Given the description of an element on the screen output the (x, y) to click on. 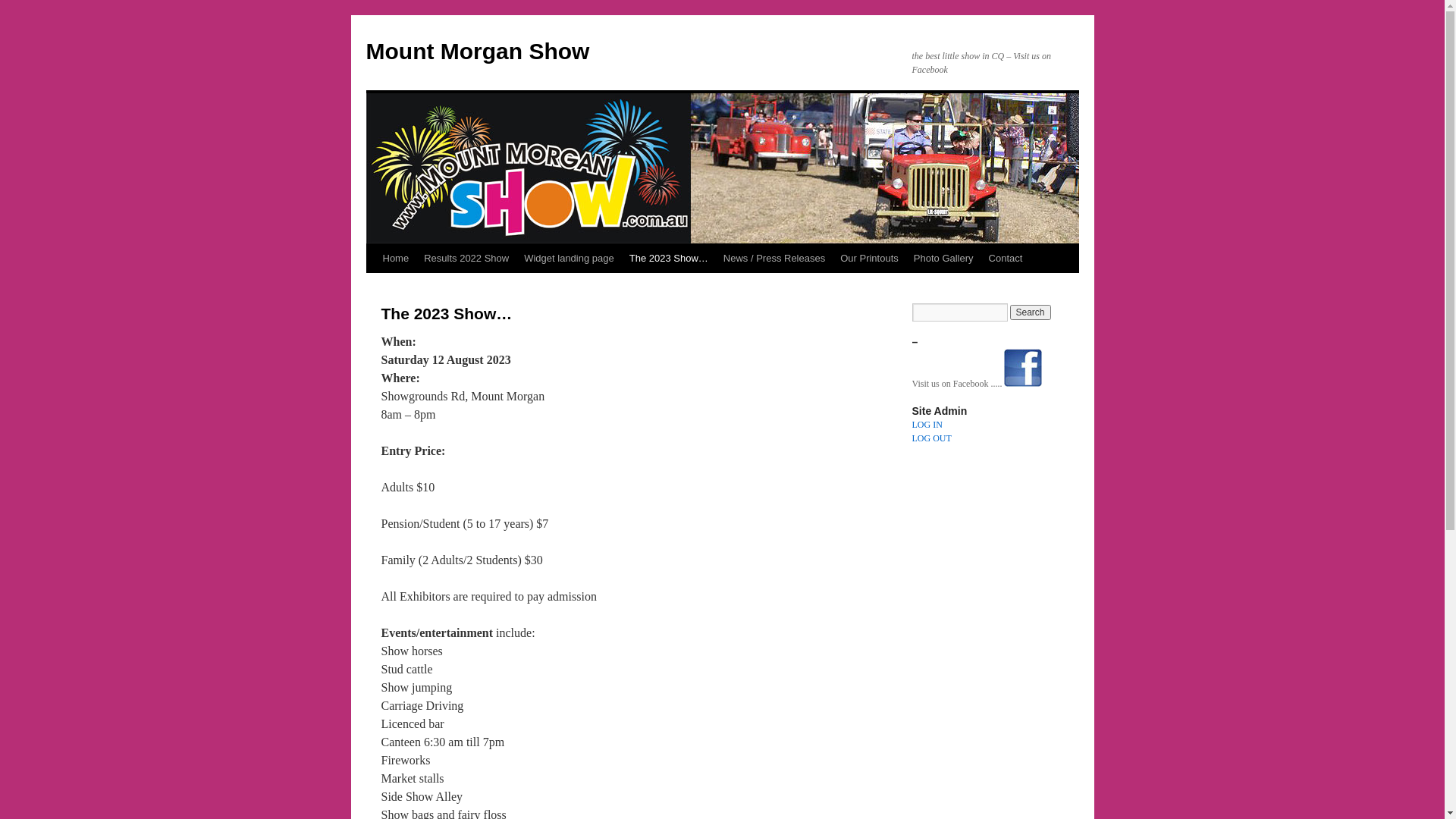
Our Printouts Element type: text (869, 258)
Home Element type: text (395, 258)
Photo Gallery Element type: text (943, 258)
Skip to content Element type: text (372, 286)
LOG IN Element type: text (926, 424)
Contact Element type: text (1005, 258)
LOG OUT Element type: text (930, 438)
News / Press Releases Element type: text (773, 258)
Widget landing page Element type: text (568, 258)
Search Element type: text (1030, 312)
fb-x50 Element type: hover (1022, 367)
Results 2022 Show Element type: text (466, 258)
Mount Morgan Show Element type: text (477, 50)
